Given the description of an element on the screen output the (x, y) to click on. 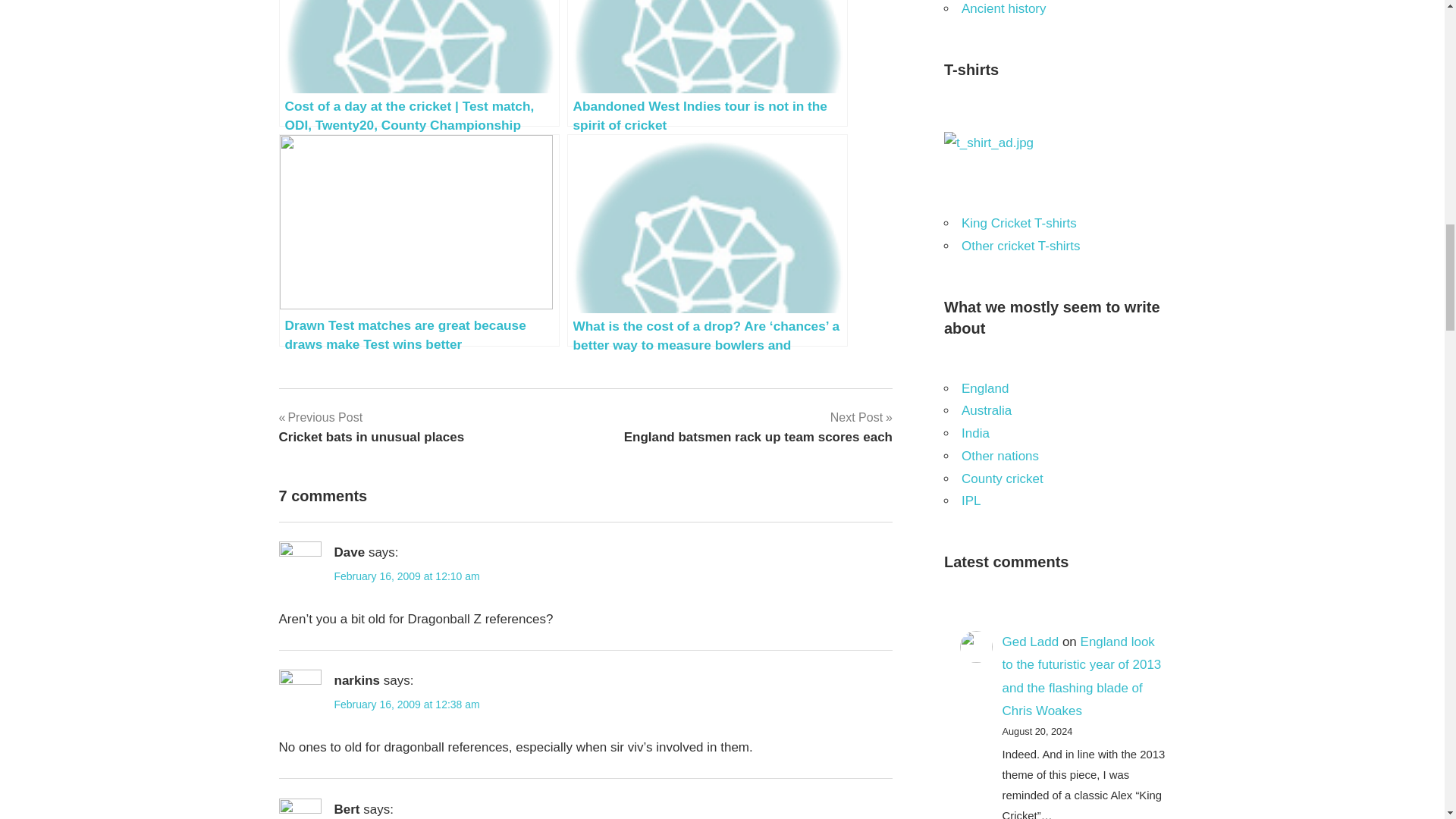
Abandoned West Indies tour is not in the spirit of cricket (707, 63)
February 16, 2009 at 12:10 am (406, 576)
Abandoned West Indies tour is not in the spirit of cricket (758, 426)
February 16, 2009 at 12:38 am (371, 426)
